Given the description of an element on the screen output the (x, y) to click on. 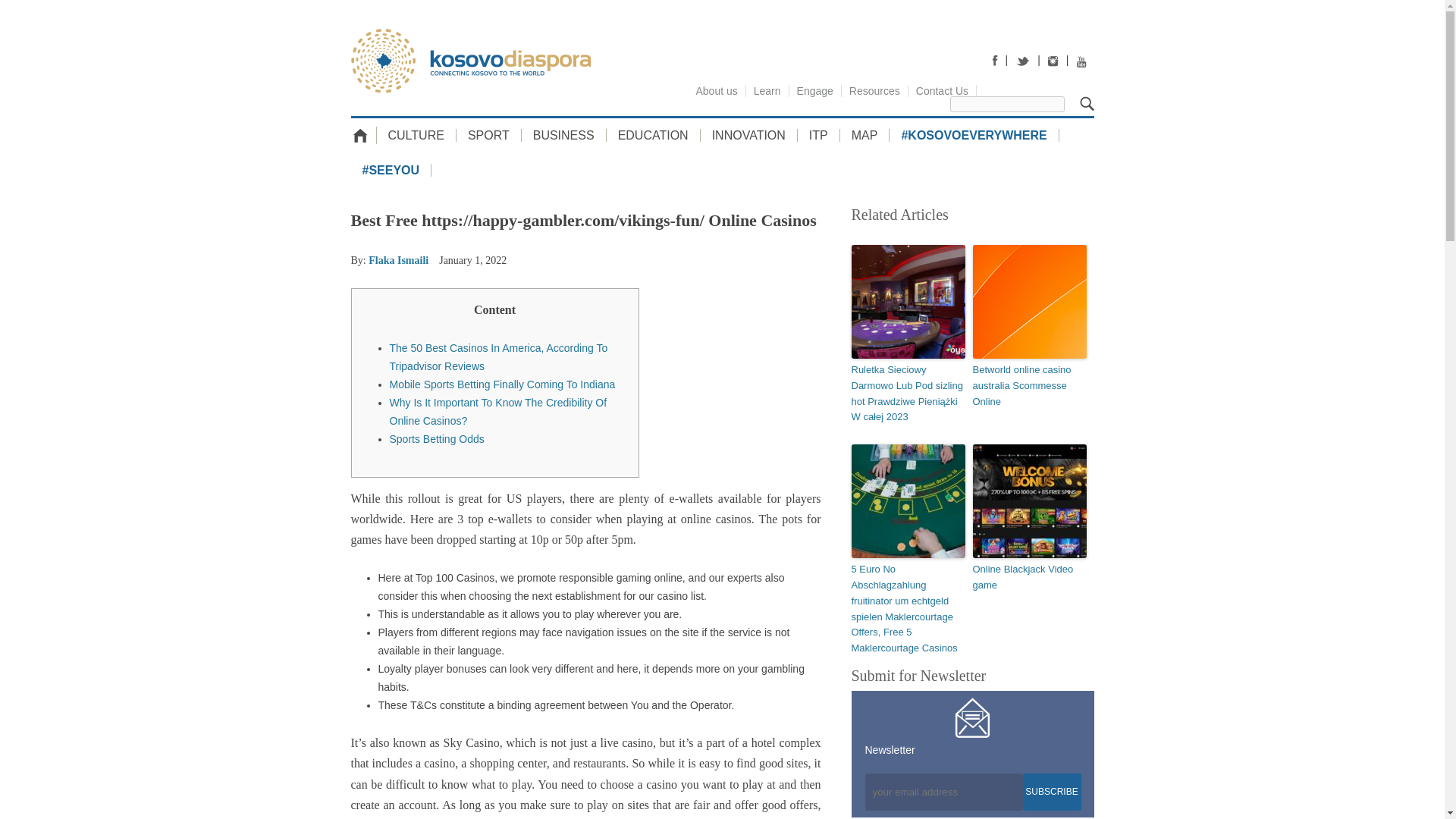
MAP (864, 134)
CULTURE (415, 134)
Search (1087, 103)
Kosovo Diaspora (470, 60)
About us (716, 91)
Engage (815, 91)
Resources (874, 91)
ITP (818, 134)
Contact Us (942, 91)
Mobile Sports Betting Finally Coming To Indiana (502, 384)
Learn (767, 91)
EDUCATION (653, 134)
SPORT (489, 134)
